Given the description of an element on the screen output the (x, y) to click on. 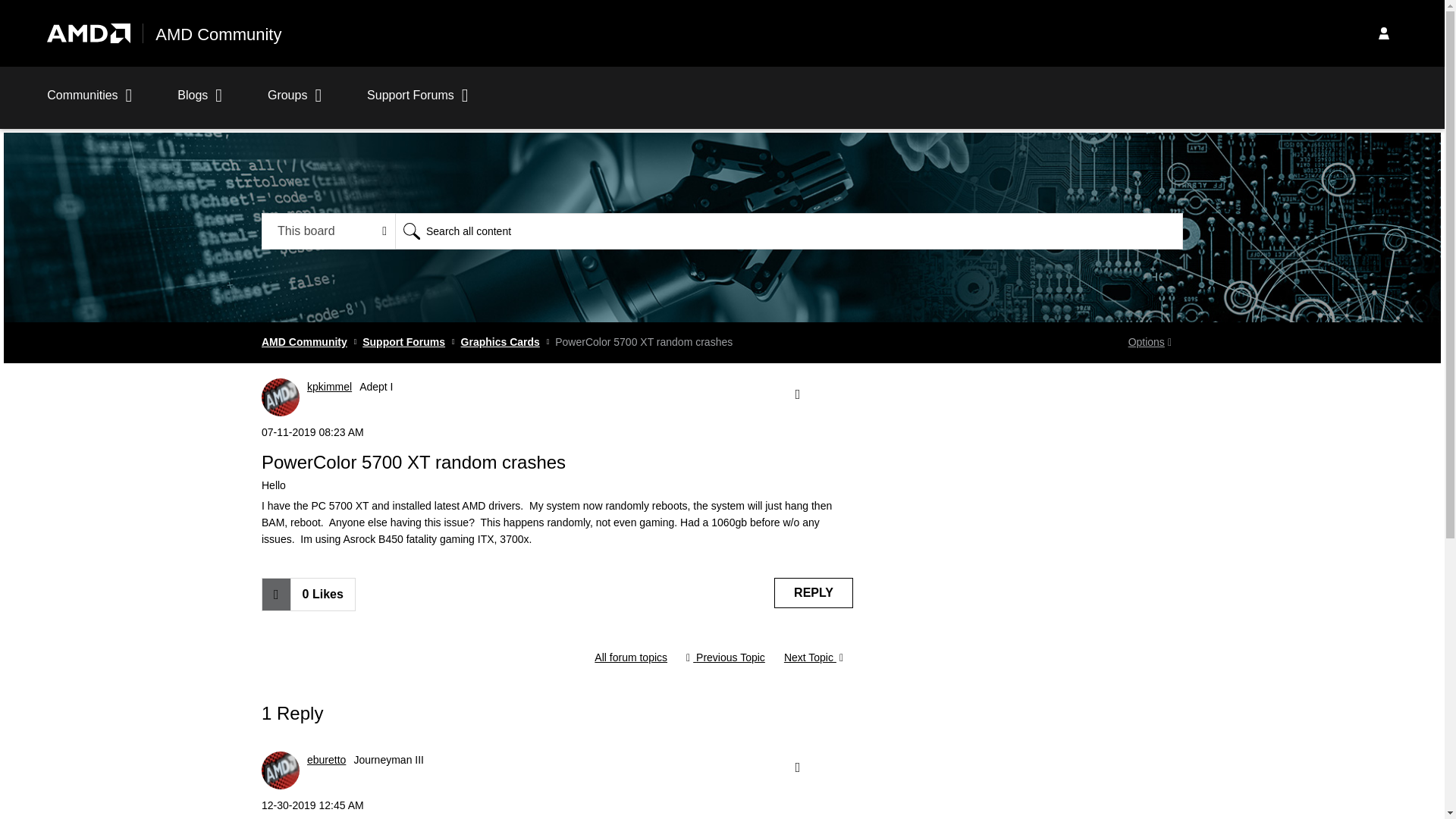
AMD Community (218, 34)
Search (411, 230)
Groups (294, 103)
kpkimmel (280, 397)
Communities (89, 103)
Show option menu (796, 394)
Search (788, 230)
Sign In (1383, 32)
Search (411, 230)
Posted on (557, 432)
